Given the description of an element on the screen output the (x, y) to click on. 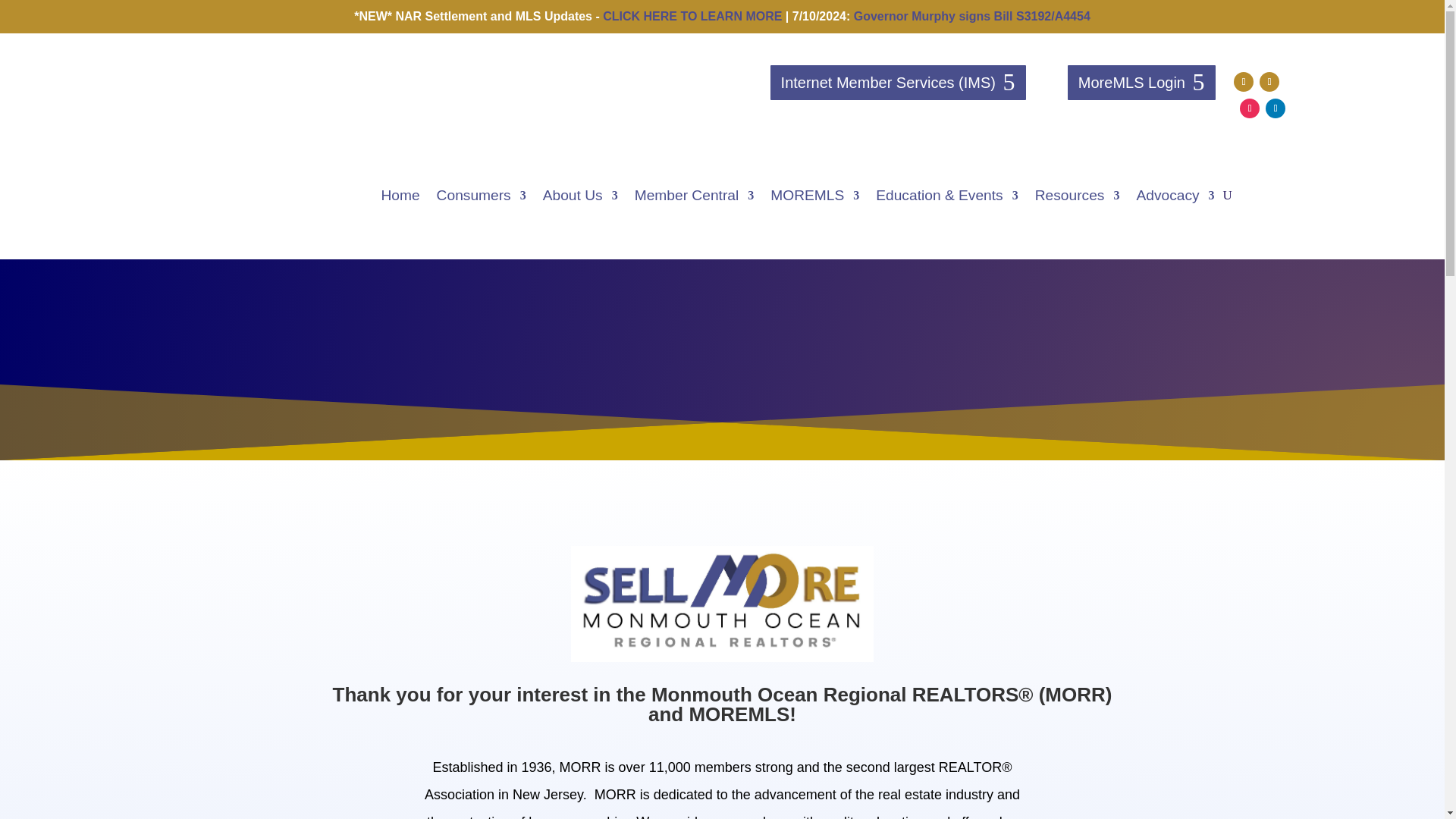
Home (399, 195)
MoreMLS Login (1141, 82)
Follow on Instagram (1249, 107)
CLICK HERE TO LEARN MORE (691, 15)
Follow on Facebook (1243, 81)
Follow on Youtube (1269, 81)
About Us (580, 195)
MOREMLS (814, 195)
Follow on LinkedIn (1275, 107)
Member Central (694, 195)
Consumers (480, 195)
